Given the description of an element on the screen output the (x, y) to click on. 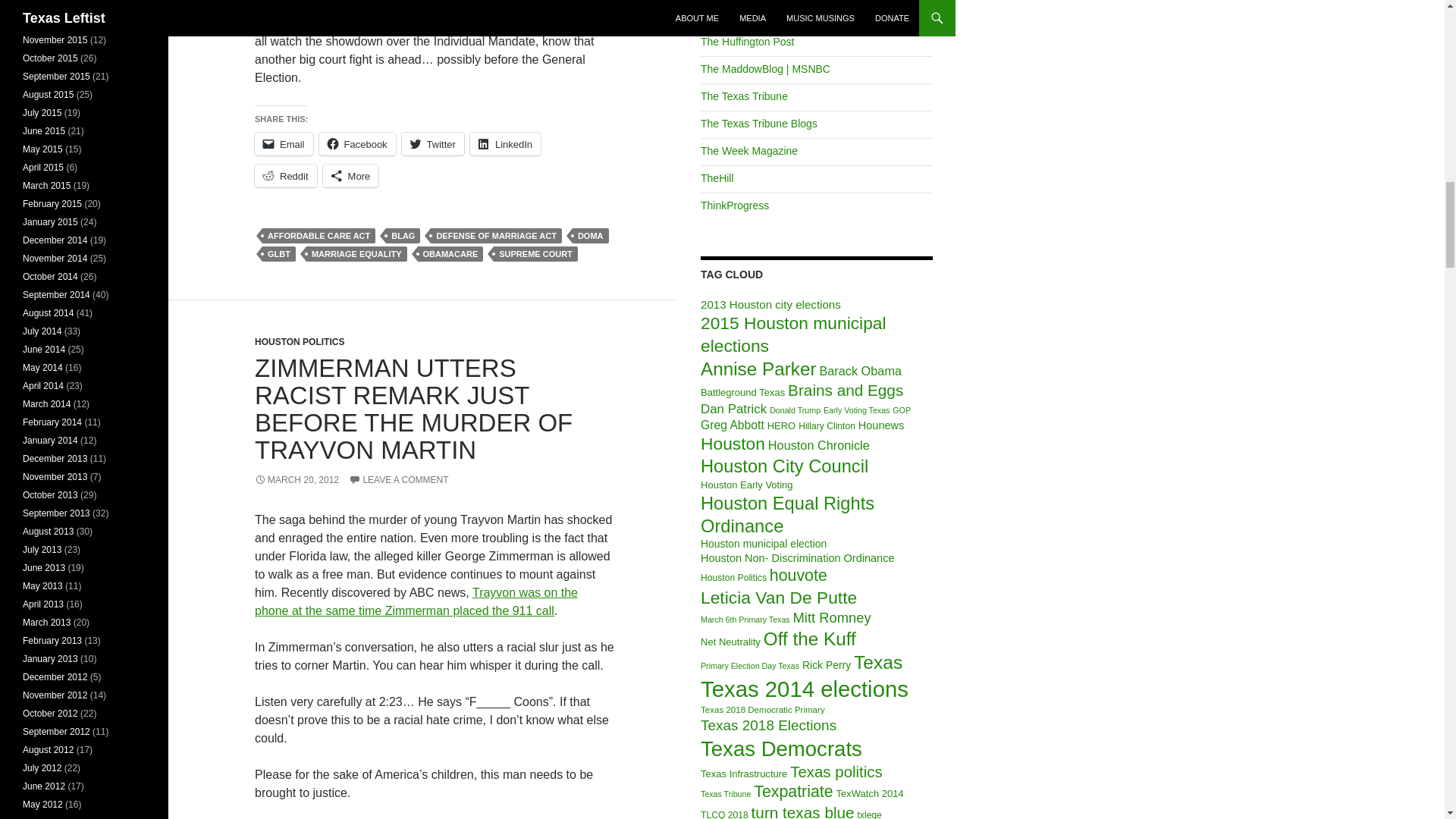
Click to share on Reddit (285, 175)
Facebook (357, 143)
More (350, 175)
Reddit (285, 175)
Click to share on Facebook (357, 143)
Click to share on Twitter (432, 143)
Email (283, 143)
Click to share on LinkedIn (505, 143)
Twitter (432, 143)
LinkedIn (505, 143)
